Given the description of an element on the screen output the (x, y) to click on. 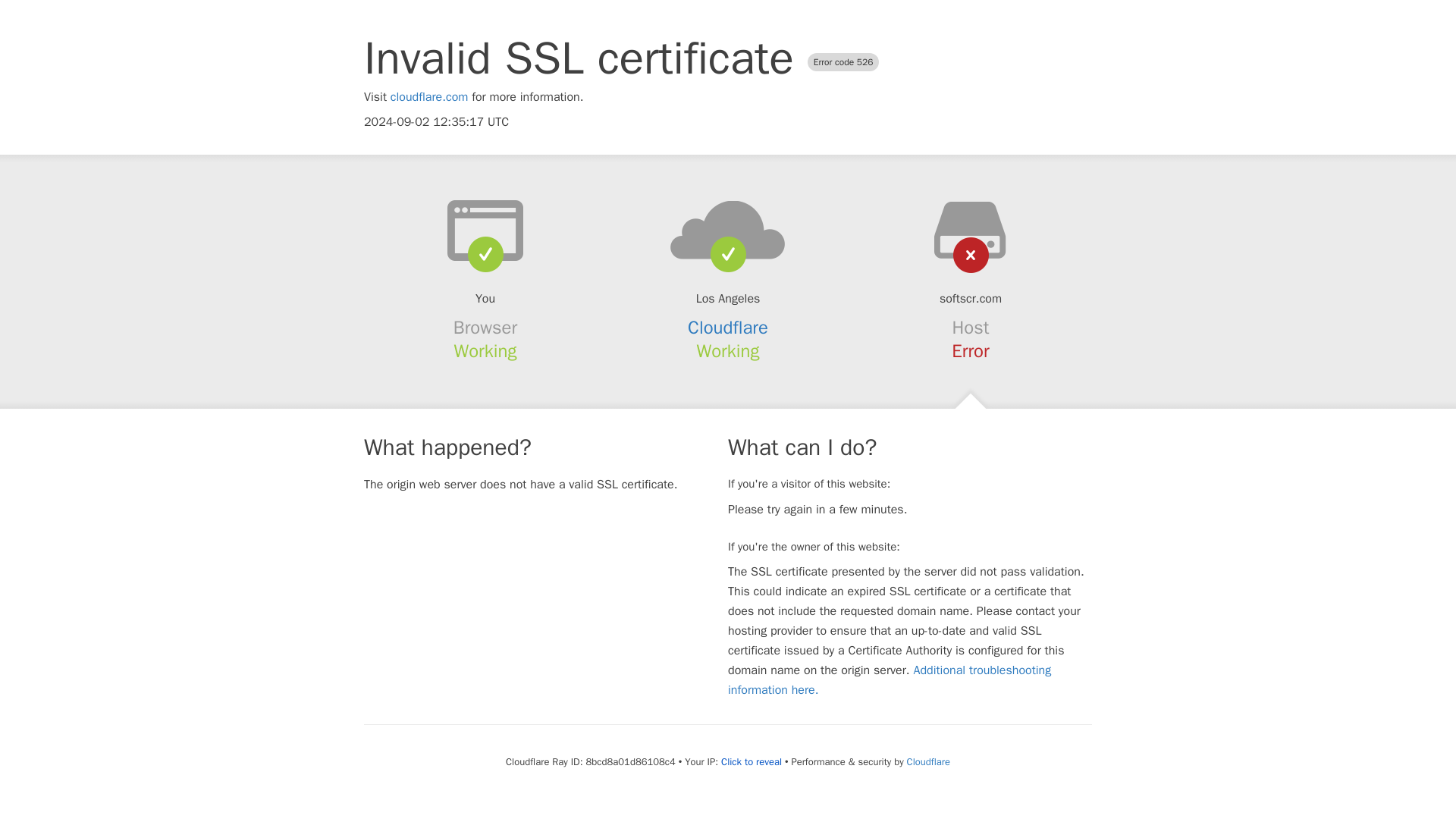
Cloudflare (928, 761)
cloudflare.com (429, 96)
Click to reveal (750, 762)
Additional troubleshooting information here. (889, 679)
Cloudflare (727, 327)
